Given the description of an element on the screen output the (x, y) to click on. 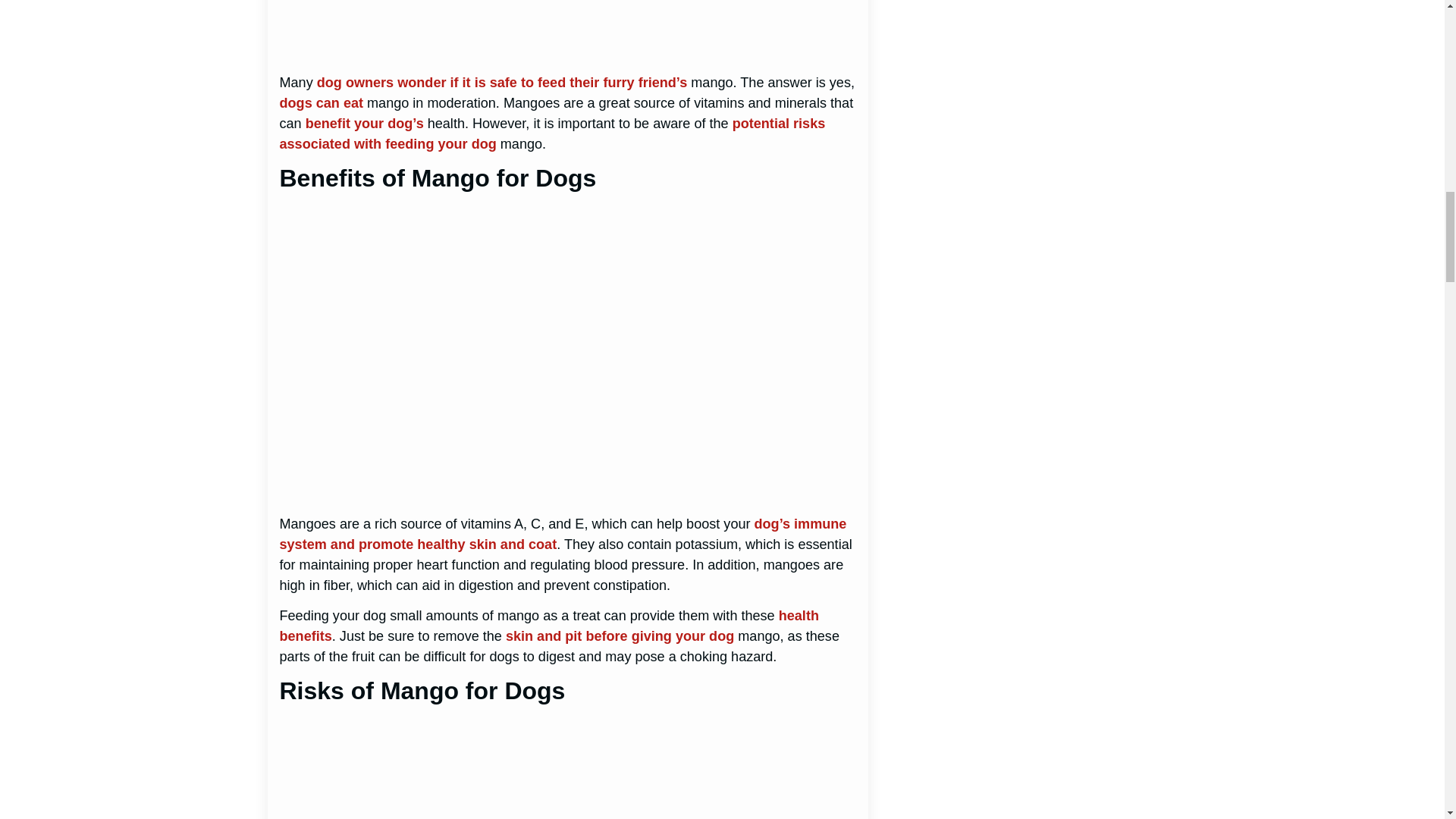
dogs can eat (320, 102)
potential risks associated with feeding your dog (552, 133)
skin and pit before giving your dog (619, 635)
health benefits (548, 625)
